Given the description of an element on the screen output the (x, y) to click on. 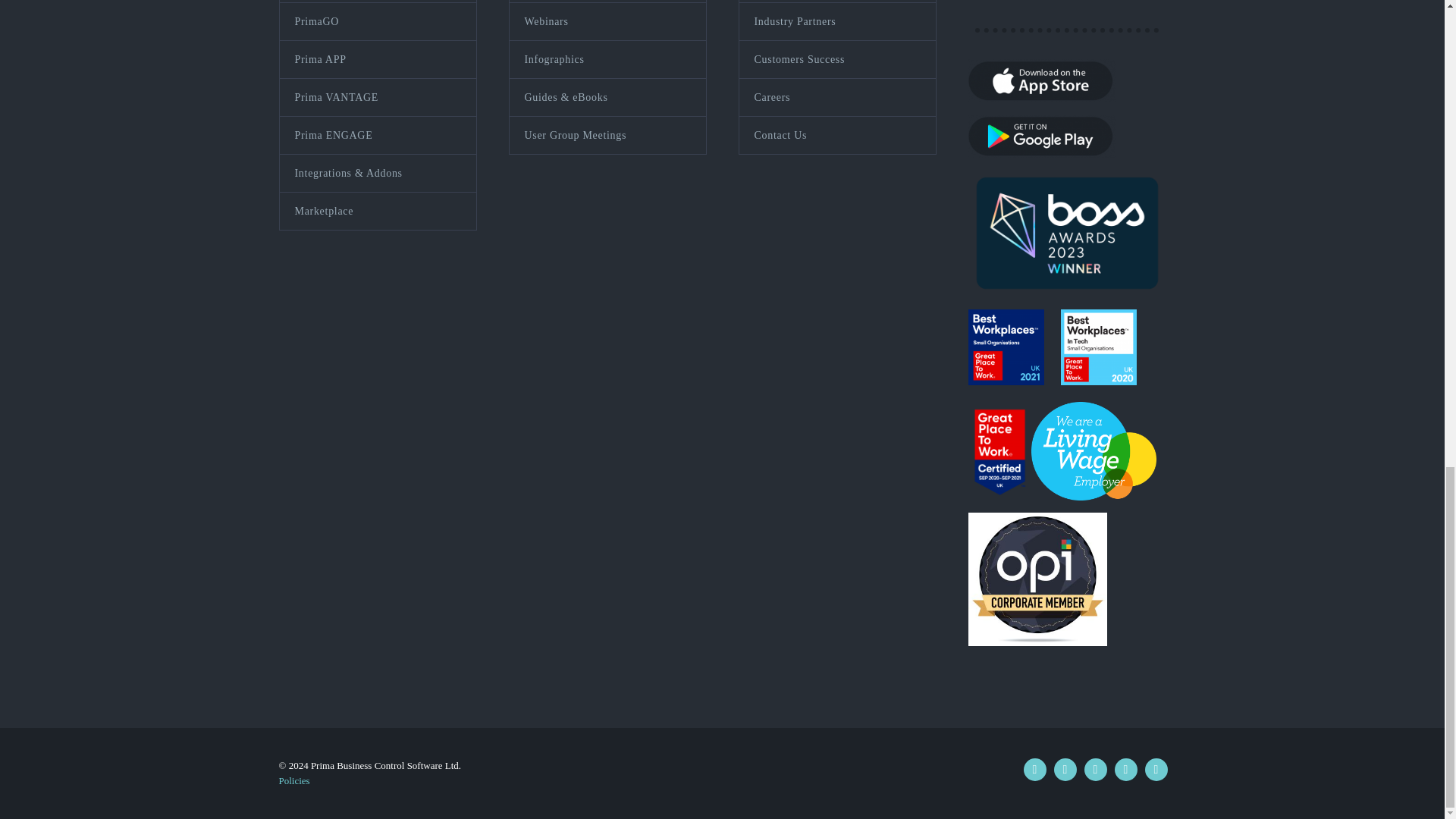
Facebook (1034, 769)
LinkedIn (1065, 769)
Twitter (1095, 769)
Instagram (1126, 769)
